Given the description of an element on the screen output the (x, y) to click on. 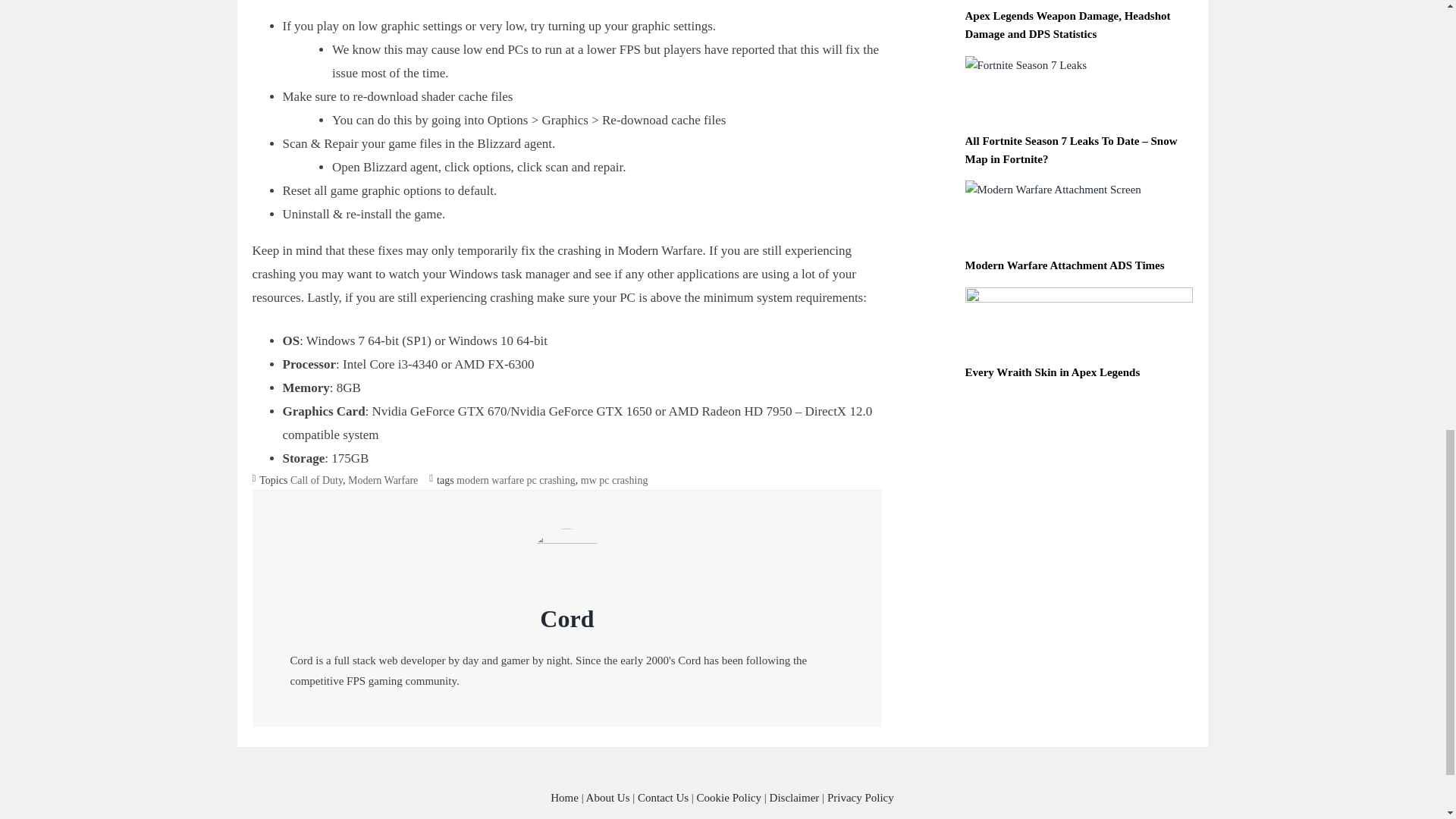
Every Wraith Skin in Apex Legends (1051, 372)
mw pc crashing (613, 480)
Modern Warfare Attachment ADS Times (1063, 265)
Contact Us (662, 797)
Cord (567, 618)
Posts by Cord (567, 618)
Home (564, 797)
modern warfare pc crashing (516, 480)
About Us (608, 797)
Cookie Policy (729, 797)
Call of Duty (315, 480)
Modern Warfare (382, 480)
